Given the description of an element on the screen output the (x, y) to click on. 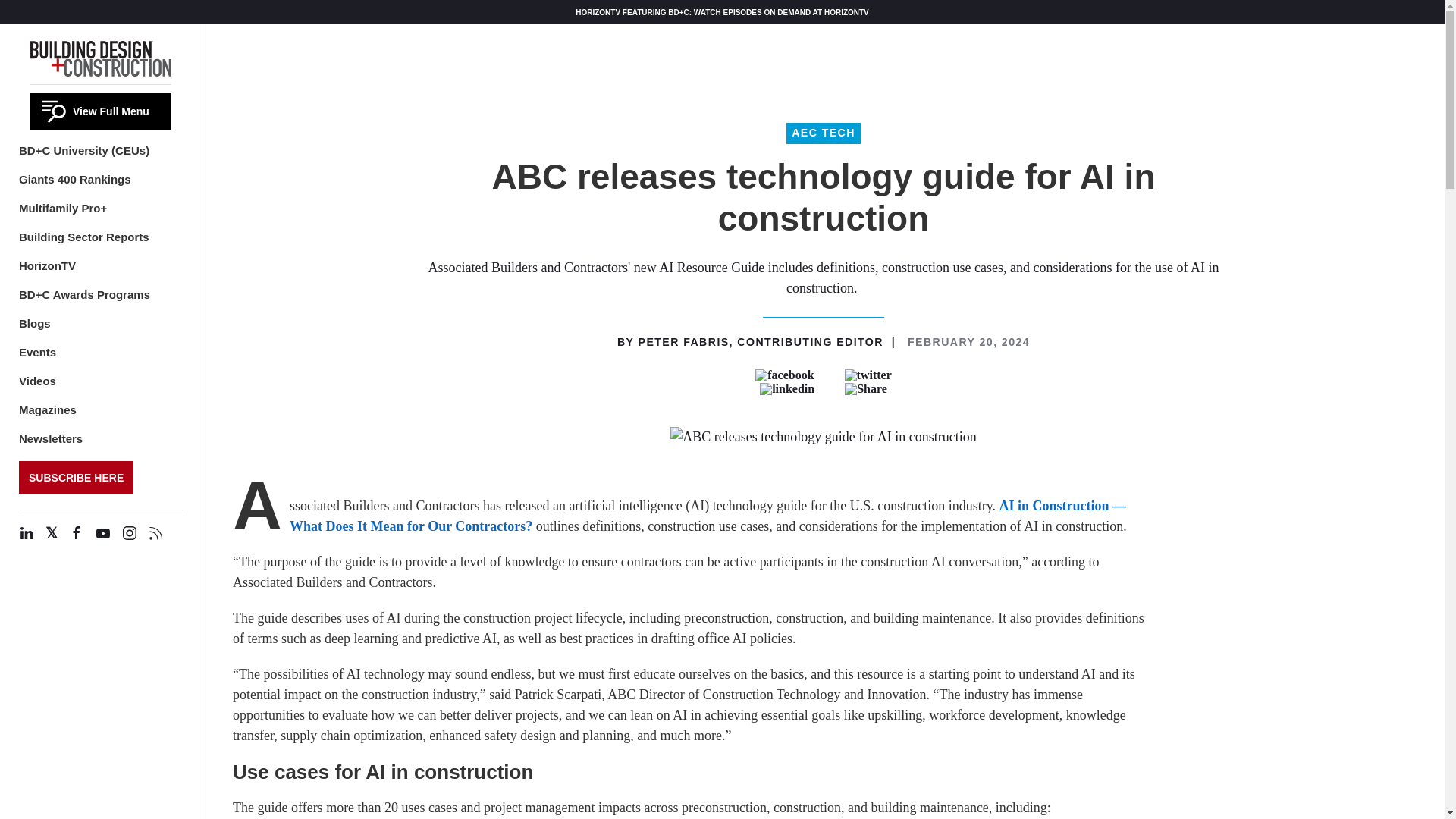
SUBSCRIBE HERE (75, 477)
Giants 400 Rankings (74, 178)
HorizonTV (46, 265)
Events (37, 351)
Magazines (47, 409)
AEC TECH (823, 133)
Home (100, 56)
Blogs (34, 323)
Building Sector Reports (83, 236)
View Full Menu (100, 111)
